Given the description of an element on the screen output the (x, y) to click on. 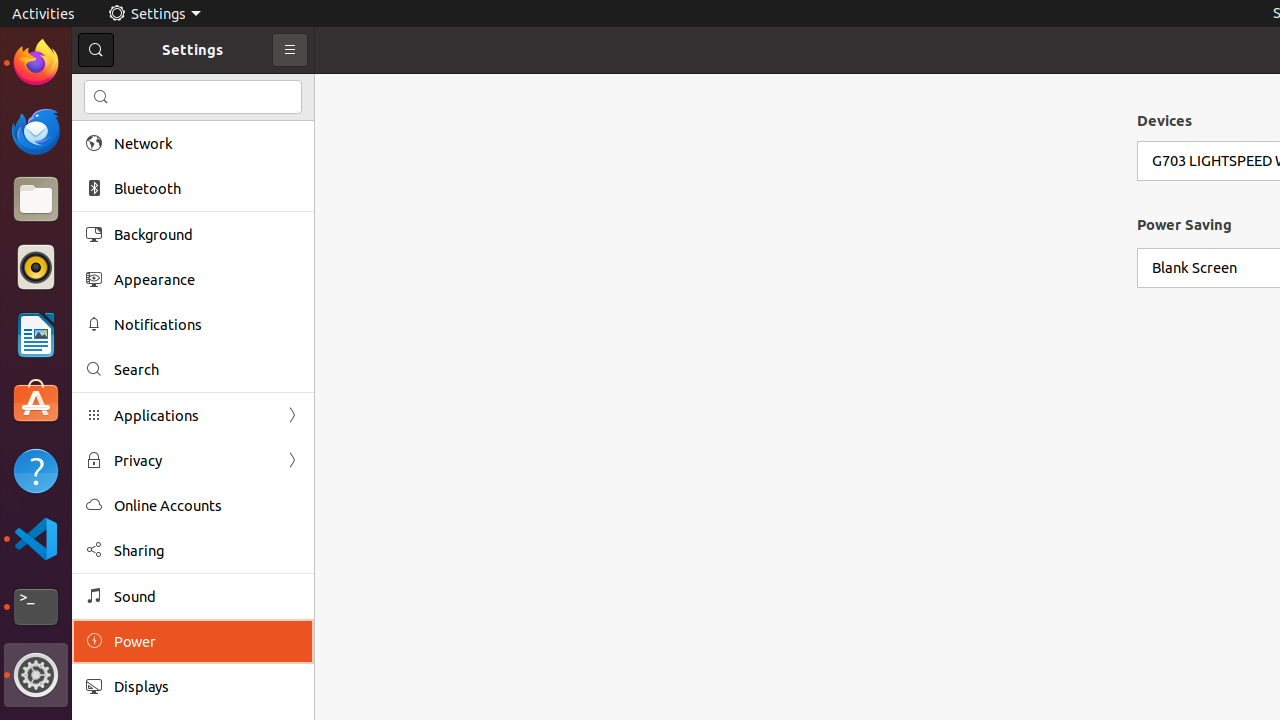
IsaHelpMain.desktop Element type: label (133, 300)
Appearance Element type: label (207, 279)
Activities Element type: label (43, 13)
